Given the description of an element on the screen output the (x, y) to click on. 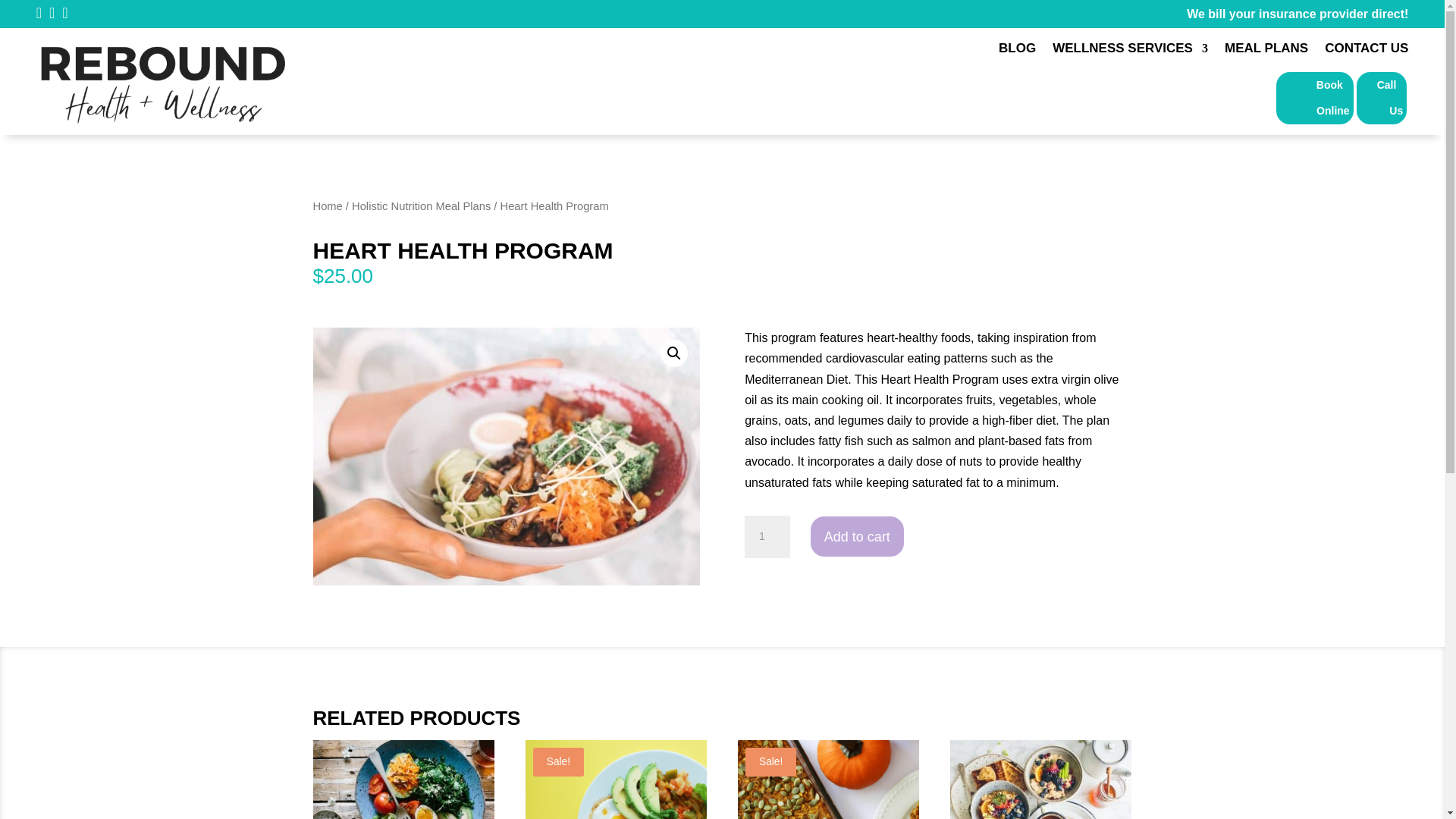
1 (767, 536)
WELLNESS SERVICES (1130, 51)
BLOG (1016, 51)
MEAL PLANS (1265, 51)
CONTACT US (1365, 51)
We bill your insurance provider direct! (1296, 13)
